Given the description of an element on the screen output the (x, y) to click on. 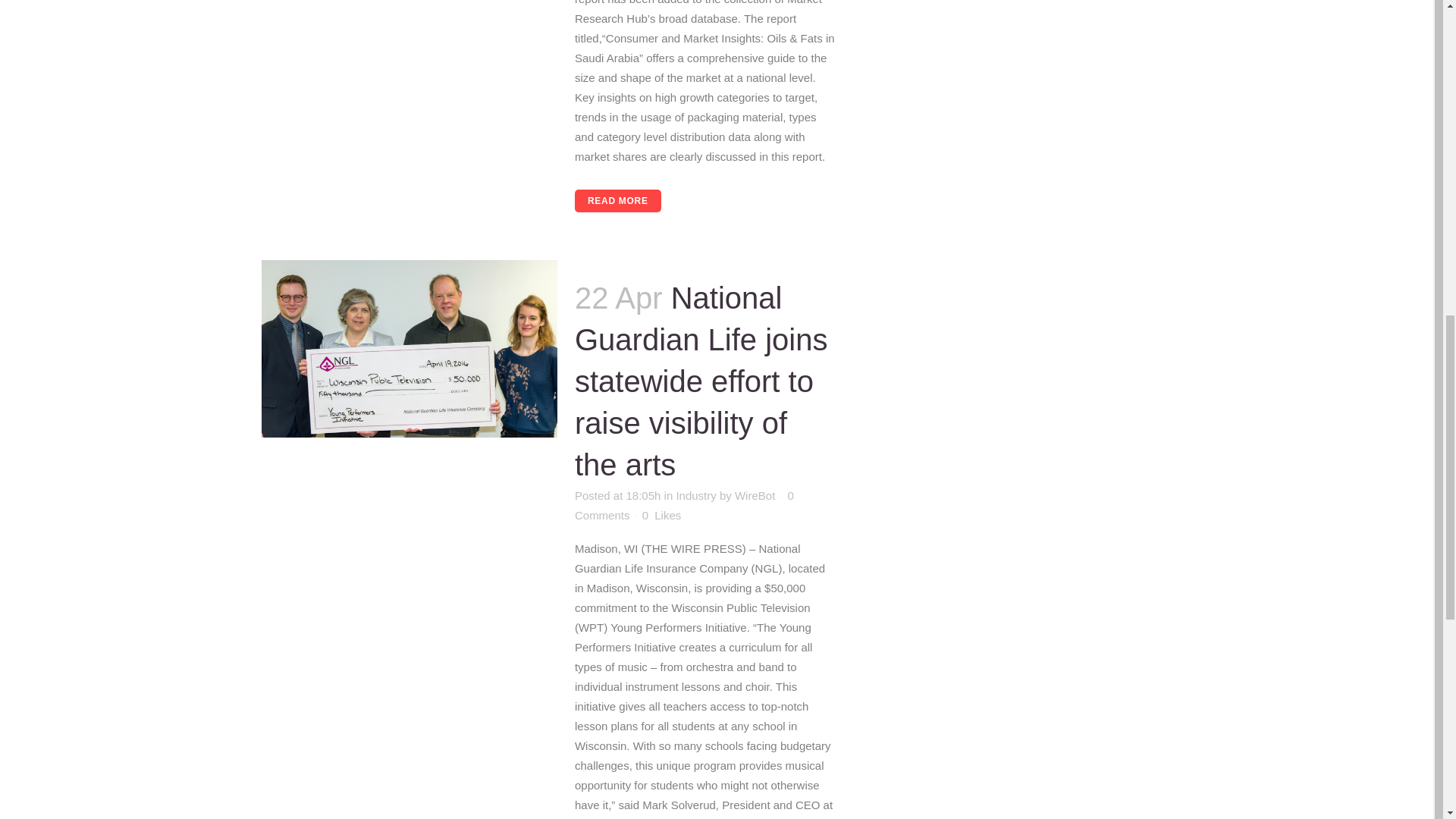
Advertisement (996, 38)
Like this (661, 515)
